Given the description of an element on the screen output the (x, y) to click on. 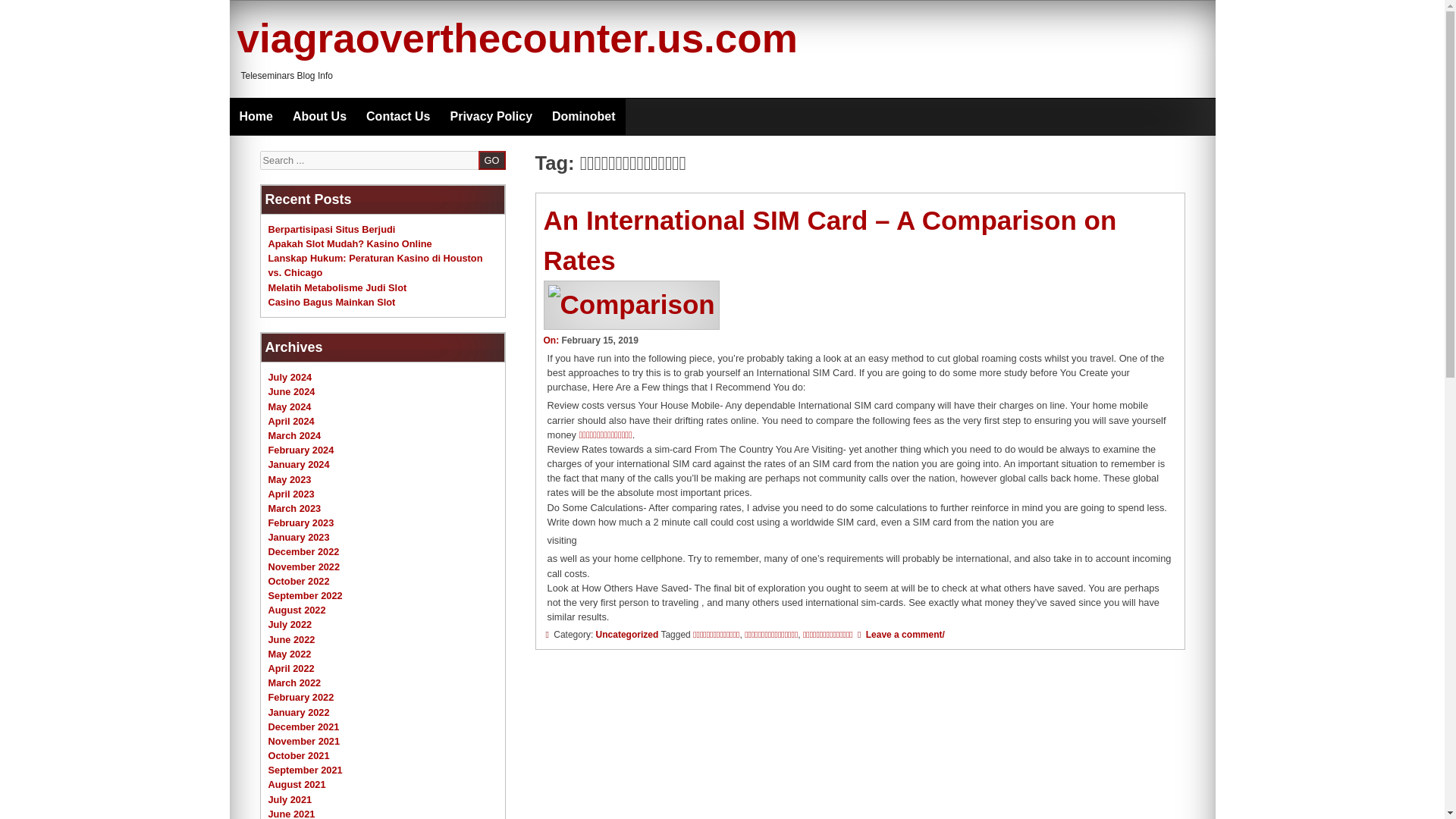
April 2023 (290, 493)
May 2024 (289, 406)
March 2024 (294, 435)
November 2022 (303, 566)
August 2022 (296, 609)
GO (492, 158)
Lanskap Hukum: Peraturan Kasino di Houston vs. Chicago (375, 265)
viagraoverthecounter.us.com (515, 37)
Uncategorized (627, 634)
January 2023 (298, 536)
May 2023 (289, 478)
January 2024 (298, 464)
February 15, 2019 (598, 339)
Melatih Metabolisme Judi Slot (337, 287)
October 2022 (298, 581)
